Given the description of an element on the screen output the (x, y) to click on. 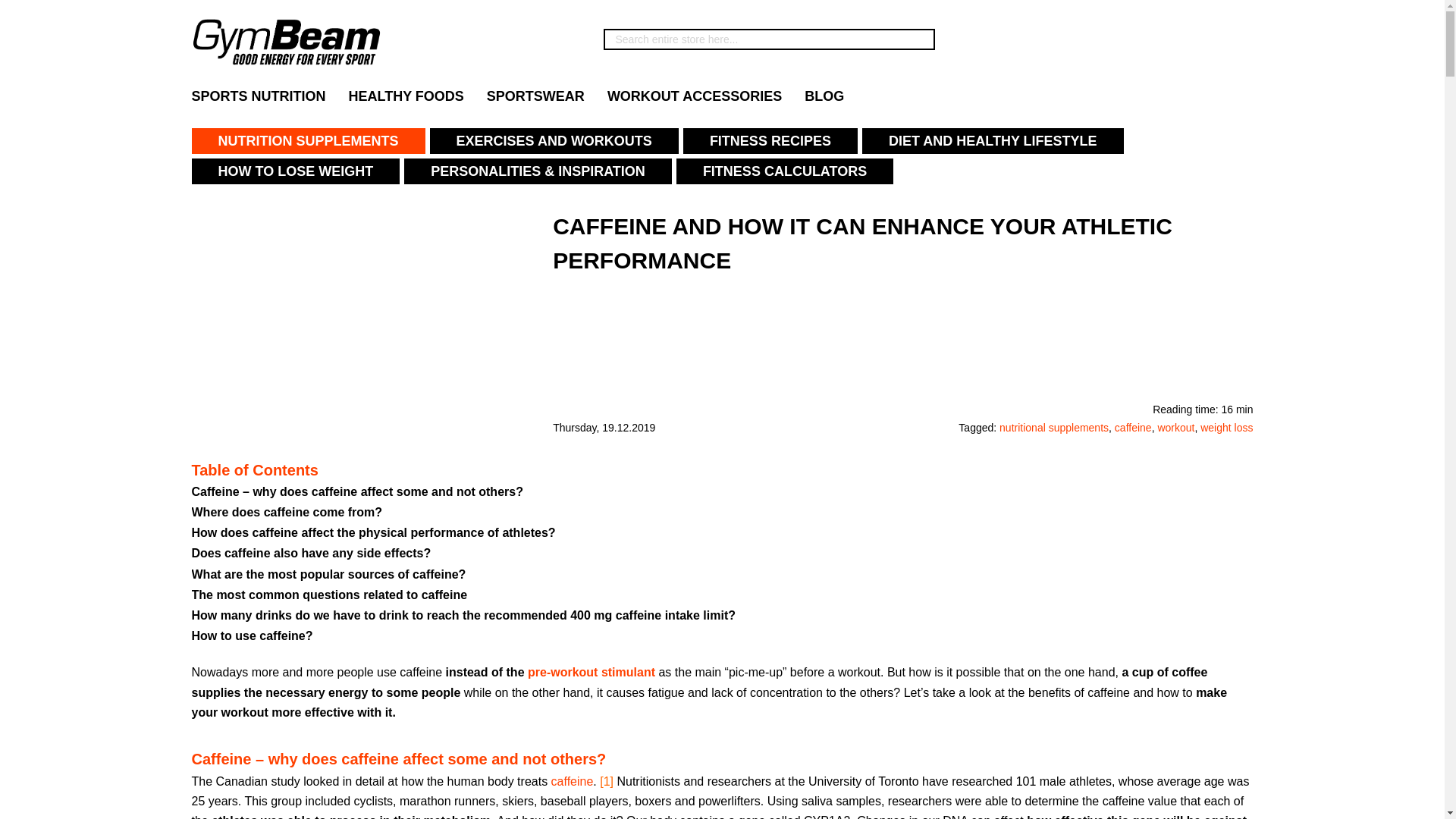
The most common questions related to caffeine (328, 594)
Where does caffeine come from? (285, 512)
How to use caffeine? (251, 635)
Does caffeine also have any side effects? (310, 552)
SPORTS NUTRITION (265, 96)
What are the most popular sources of caffeine? (327, 574)
